Given the description of an element on the screen output the (x, y) to click on. 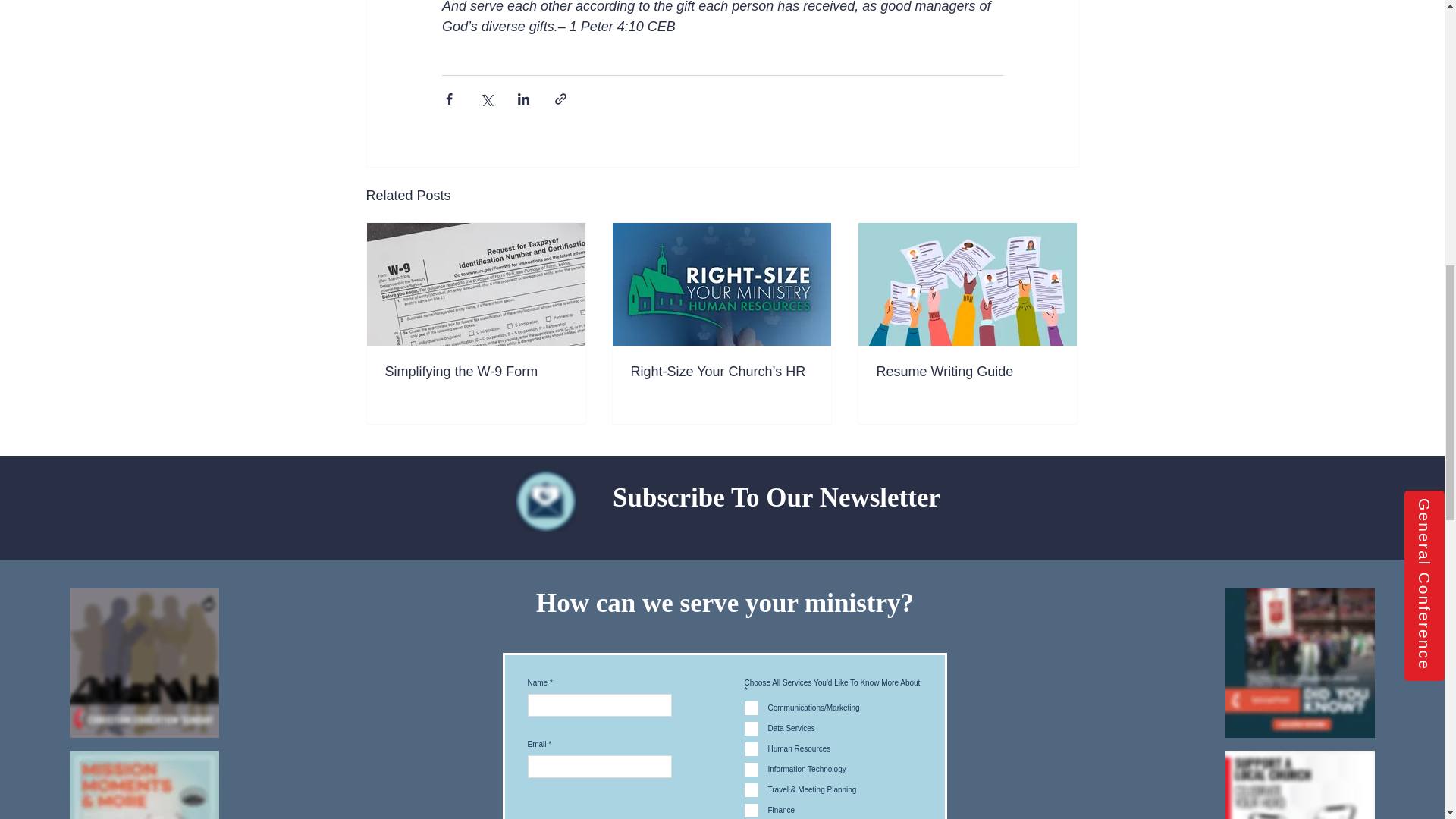
Collab Newsletter.png (545, 500)
